Given the description of an element on the screen output the (x, y) to click on. 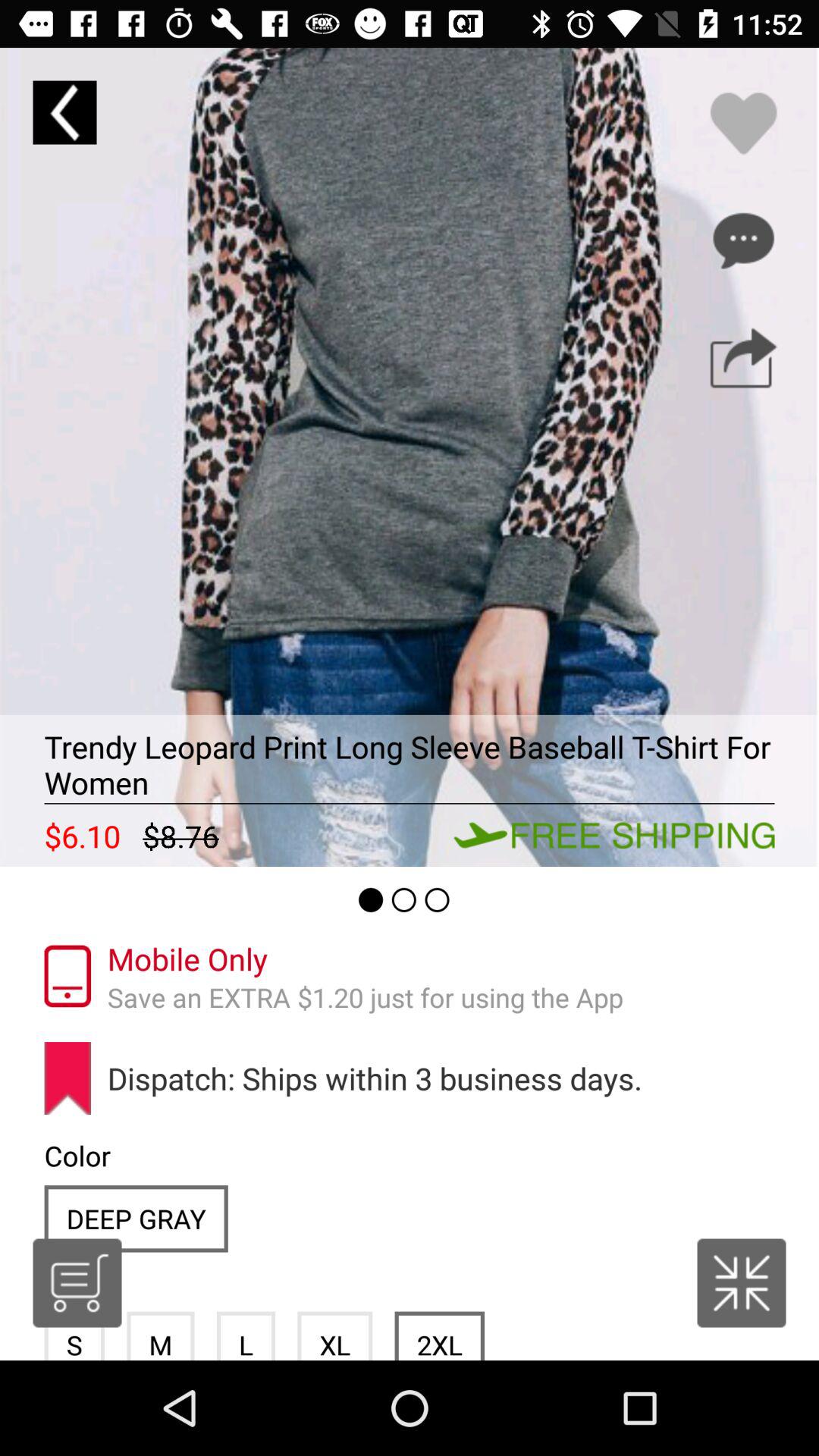
select m icon (160, 1335)
